Given the description of an element on the screen output the (x, y) to click on. 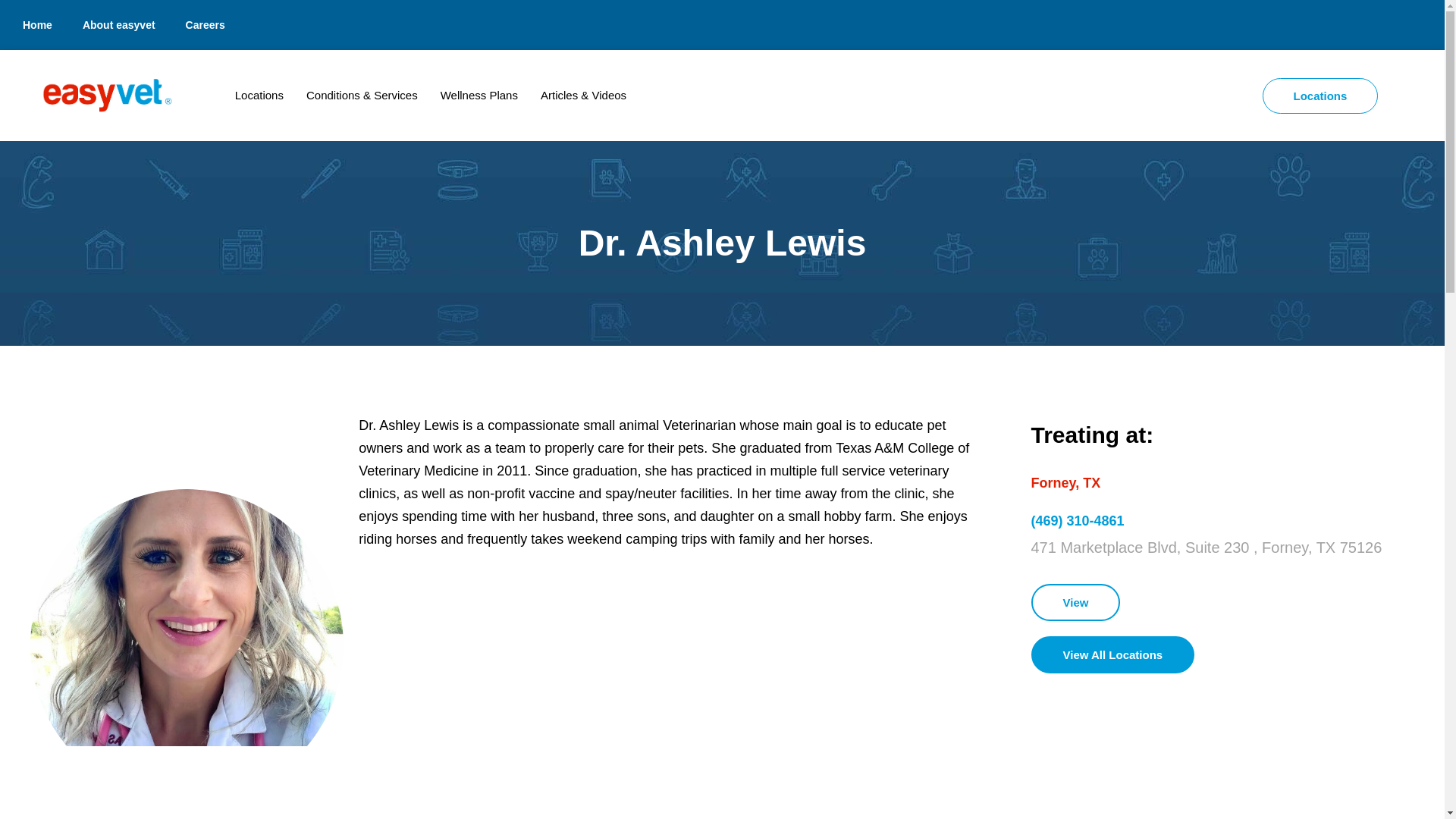
Home (36, 24)
Locations (259, 95)
Wellness Plans (479, 95)
View (1075, 601)
Careers (205, 24)
About easyvet (118, 24)
Locations (1319, 94)
View All Locations (1112, 654)
